Given the description of an element on the screen output the (x, y) to click on. 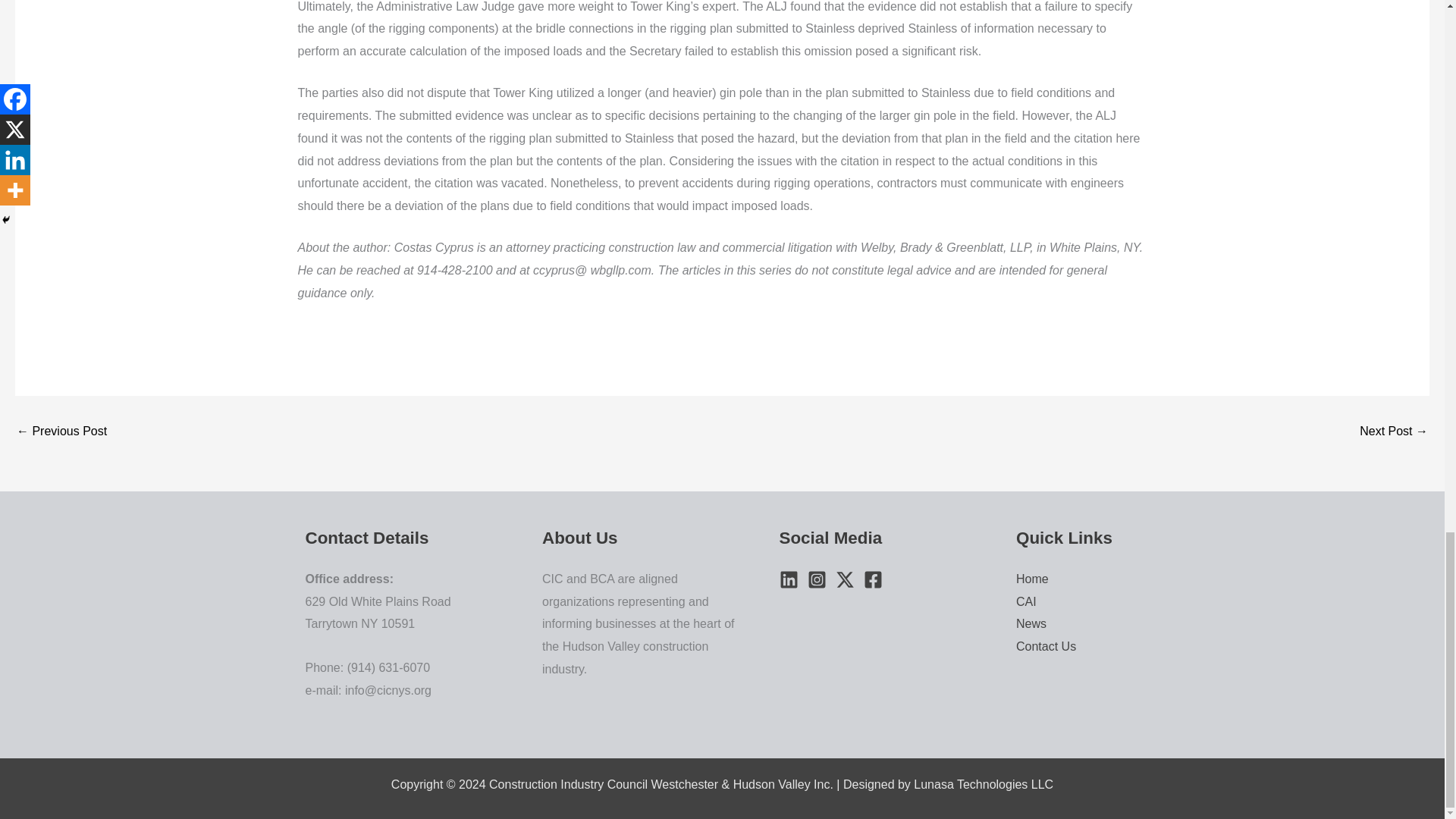
Low Bids (1393, 431)
Annual CIC NYSDOT Region 8 Construction Safety Seminar (61, 431)
